Given the description of an element on the screen output the (x, y) to click on. 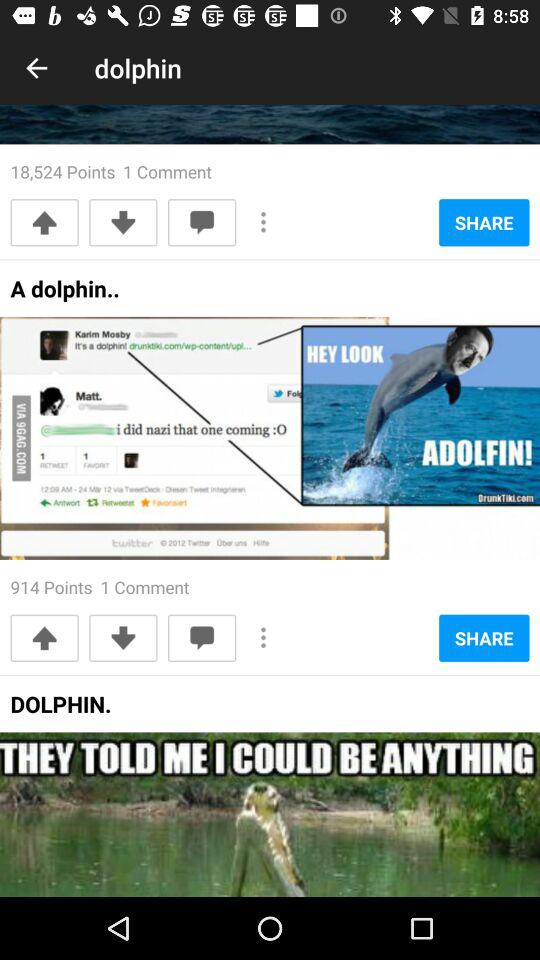
flip to the 18 524 points icon (110, 171)
